Given the description of an element on the screen output the (x, y) to click on. 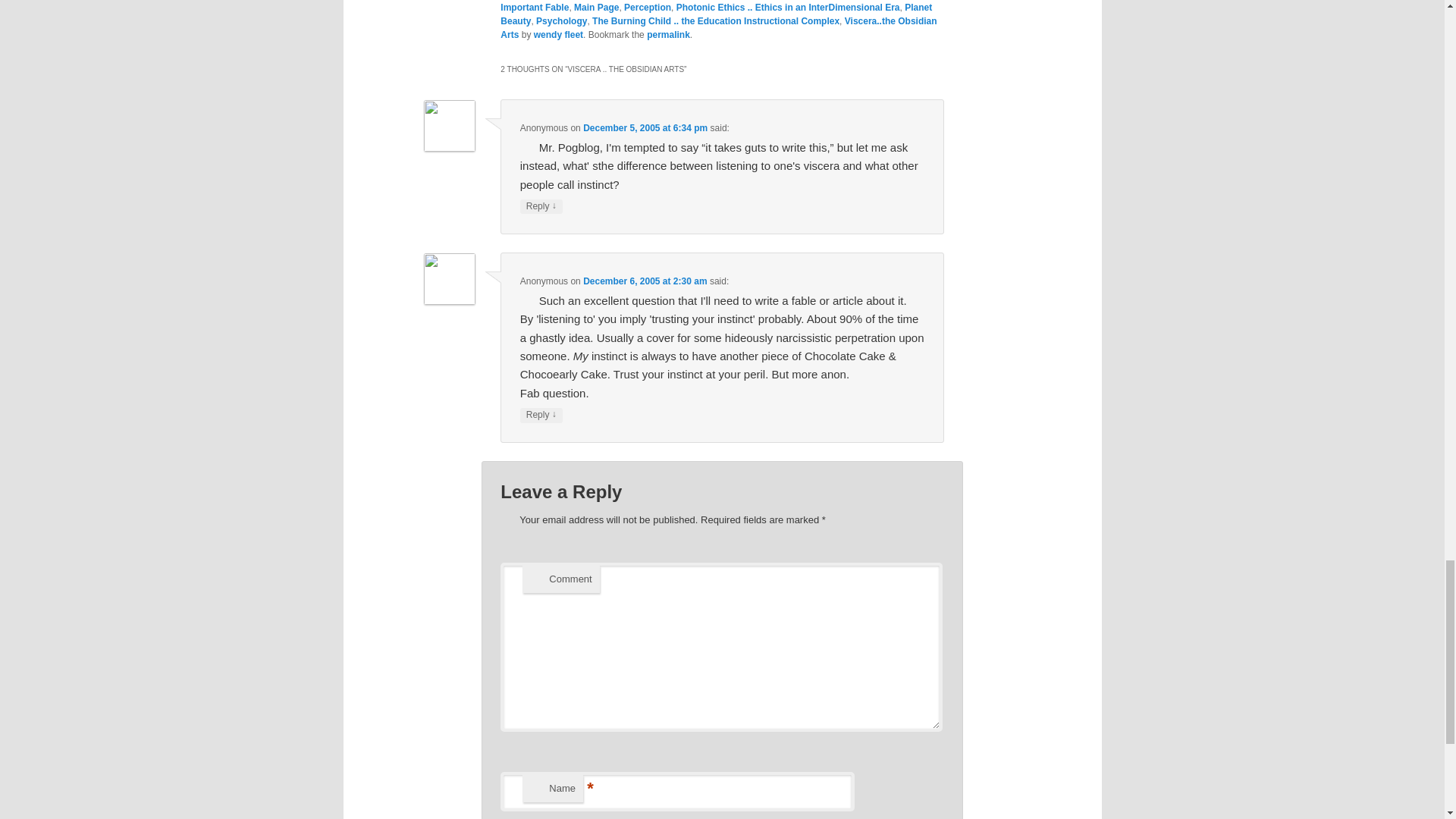
Photonic Ethics .. Ethics in an InterDimensional Era (788, 7)
Perception (647, 7)
December 6, 2005 at 2:30 am (644, 281)
The Burning Child .. the Education Instructional Complex (716, 20)
Planet Beauty (715, 14)
Psychology (560, 20)
wendy fleet (558, 34)
December 5, 2005 at 6:34 pm (645, 127)
Permalink to Viscera .. the Obsidian Arts (668, 34)
Viscera..the Obsidian Arts (718, 27)
Main Page (595, 7)
permalink (668, 34)
